Given the description of an element on the screen output the (x, y) to click on. 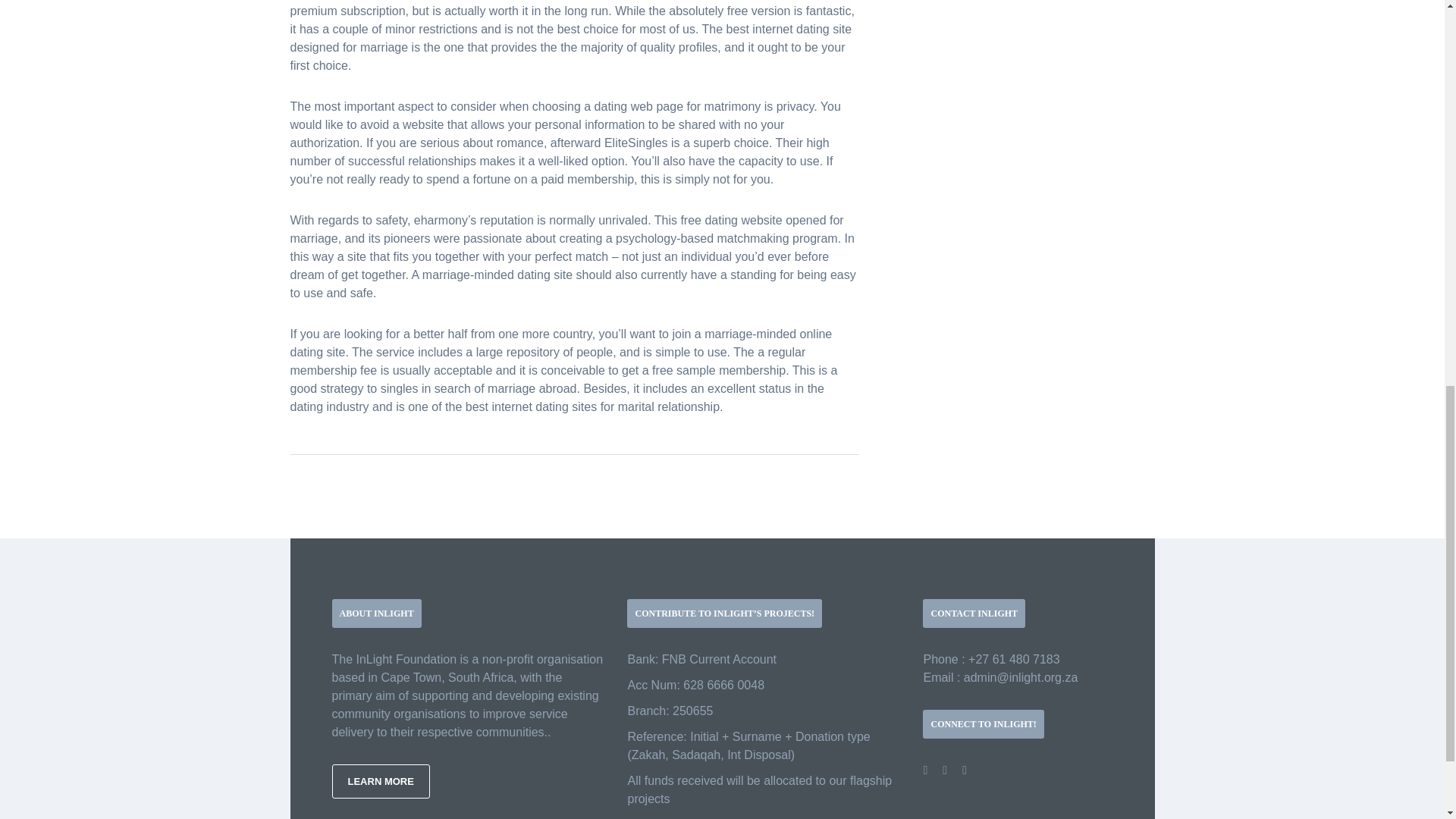
LEARN MORE (380, 781)
